Given the description of an element on the screen output the (x, y) to click on. 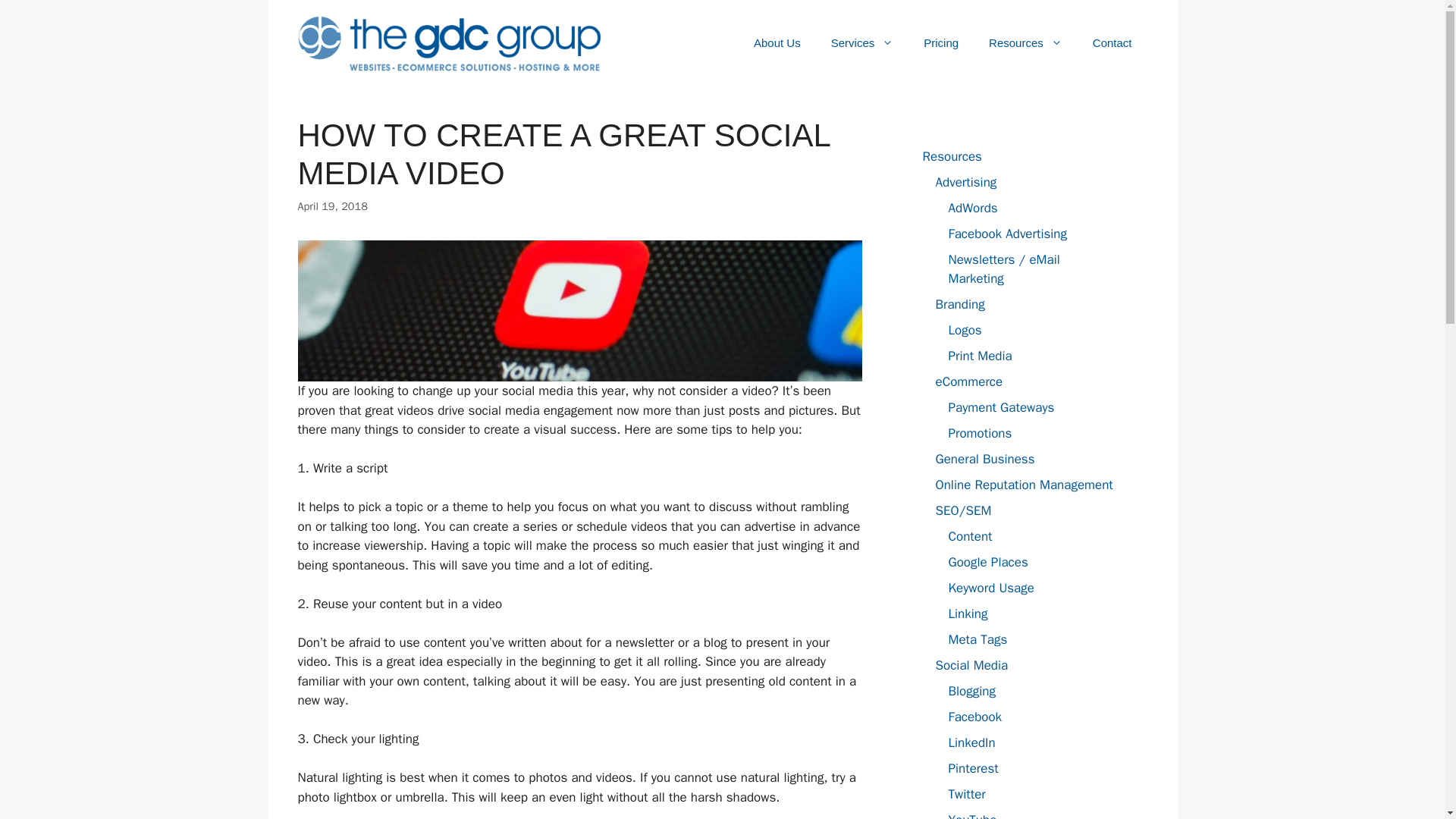
About Us (776, 43)
Contact (1112, 43)
Branding (960, 304)
Pricing (941, 43)
Advertising (966, 182)
Resources (1025, 43)
AdWords (972, 207)
Services (861, 43)
Logos (964, 330)
Facebook Advertising (1007, 233)
